Given the description of an element on the screen output the (x, y) to click on. 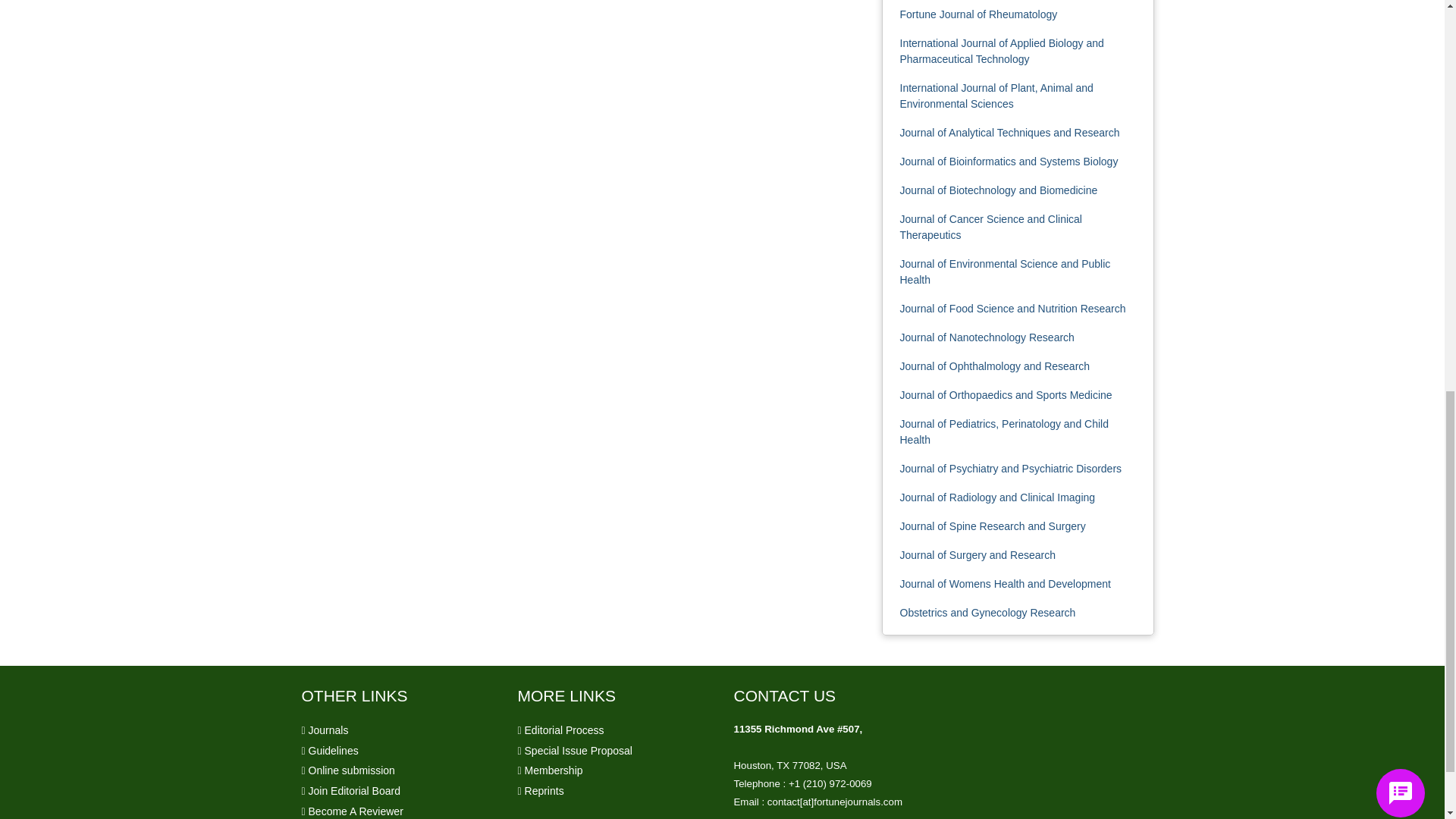
Journal of Environmental Science and Public Health (1004, 271)
Journal of Biotechnology and Biomedicine (998, 190)
Journal of Nanotechnology Research (986, 337)
Journal of Cancer Science and Clinical Therapeutics (990, 226)
Journal of Bioinformatics and Systems Biology (1008, 161)
Journal of Food Science and Nutrition Research (1012, 308)
Journal of Ophthalmology and Research (994, 366)
Journal of Analytical Techniques and Research (1009, 132)
Fortune Journal of Rheumatology (978, 14)
